Given the description of an element on the screen output the (x, y) to click on. 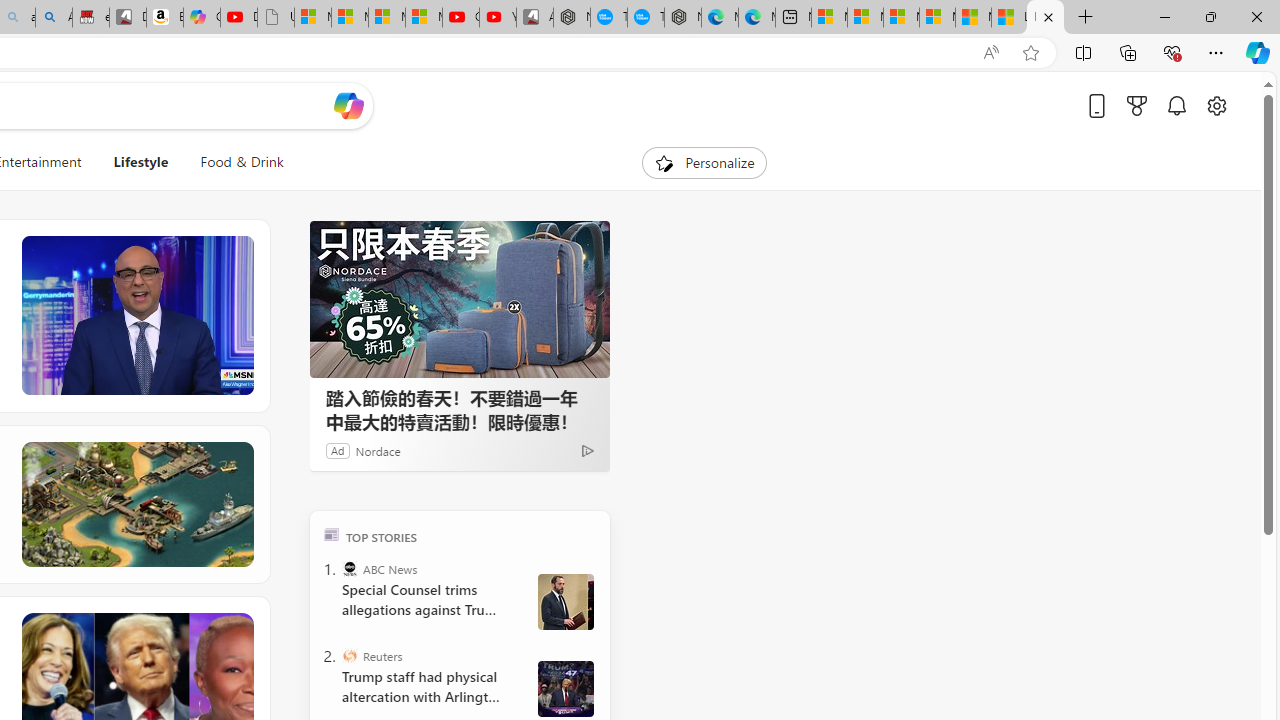
Personalize (703, 162)
Lifestyle (140, 162)
